Given the description of an element on the screen output the (x, y) to click on. 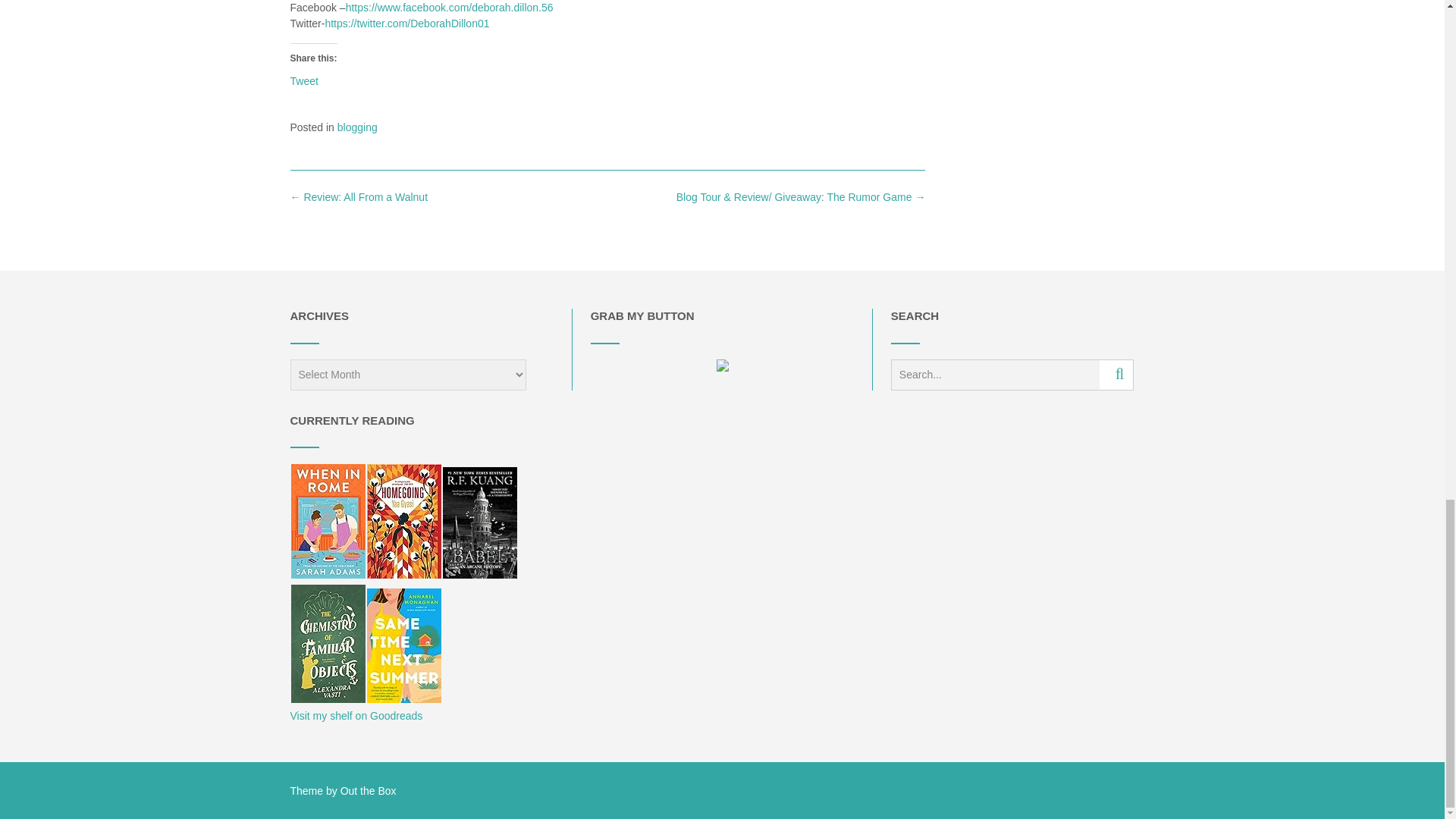
Search for: (995, 374)
blogging (357, 127)
Visit my shelf on Goodreads (355, 715)
Tweet (303, 79)
Out the Box (368, 790)
